Given the description of an element on the screen output the (x, y) to click on. 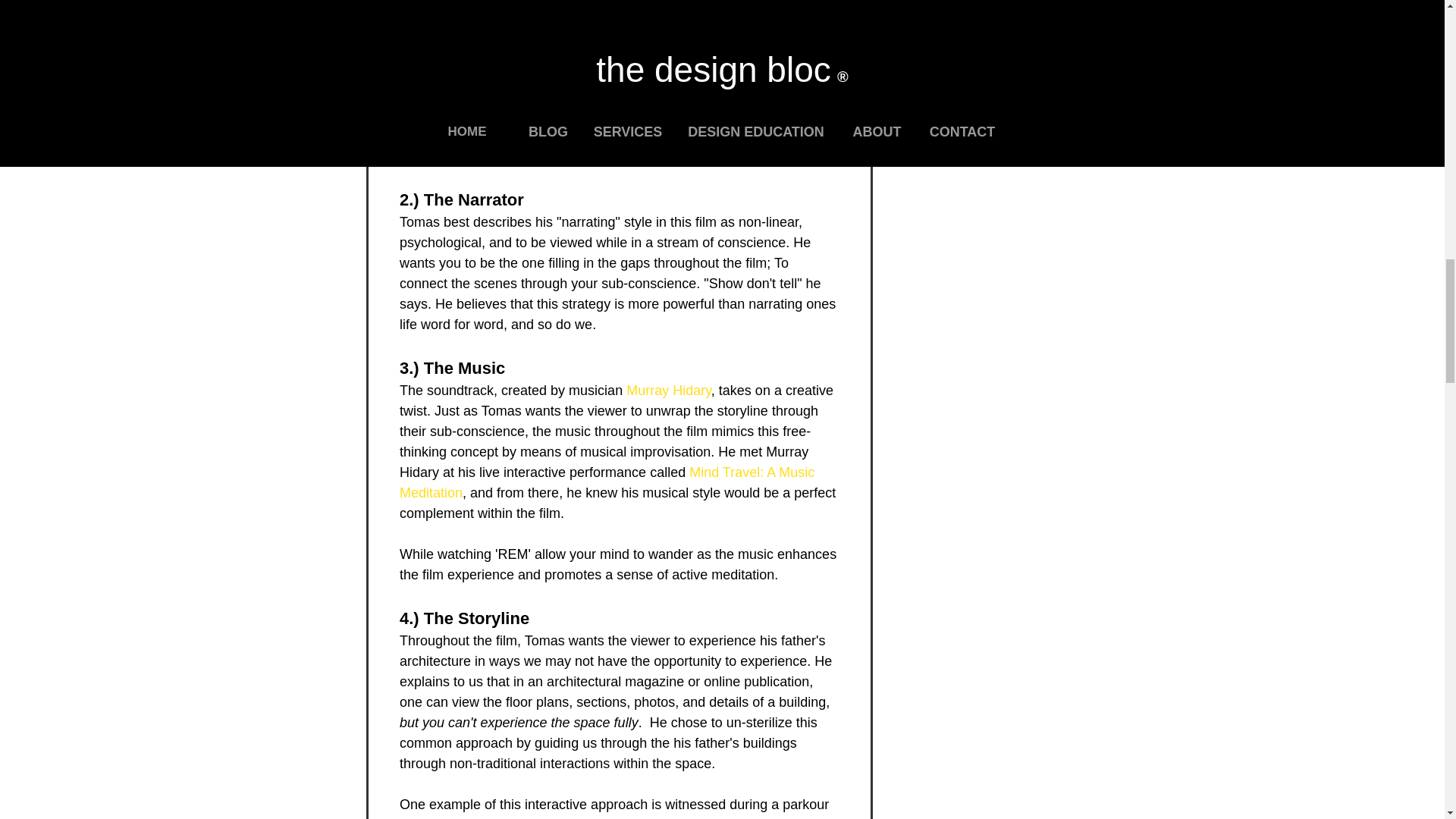
Mind Travel: A Music Meditation (607, 481)
Murray Hidary (668, 389)
